Given the description of an element on the screen output the (x, y) to click on. 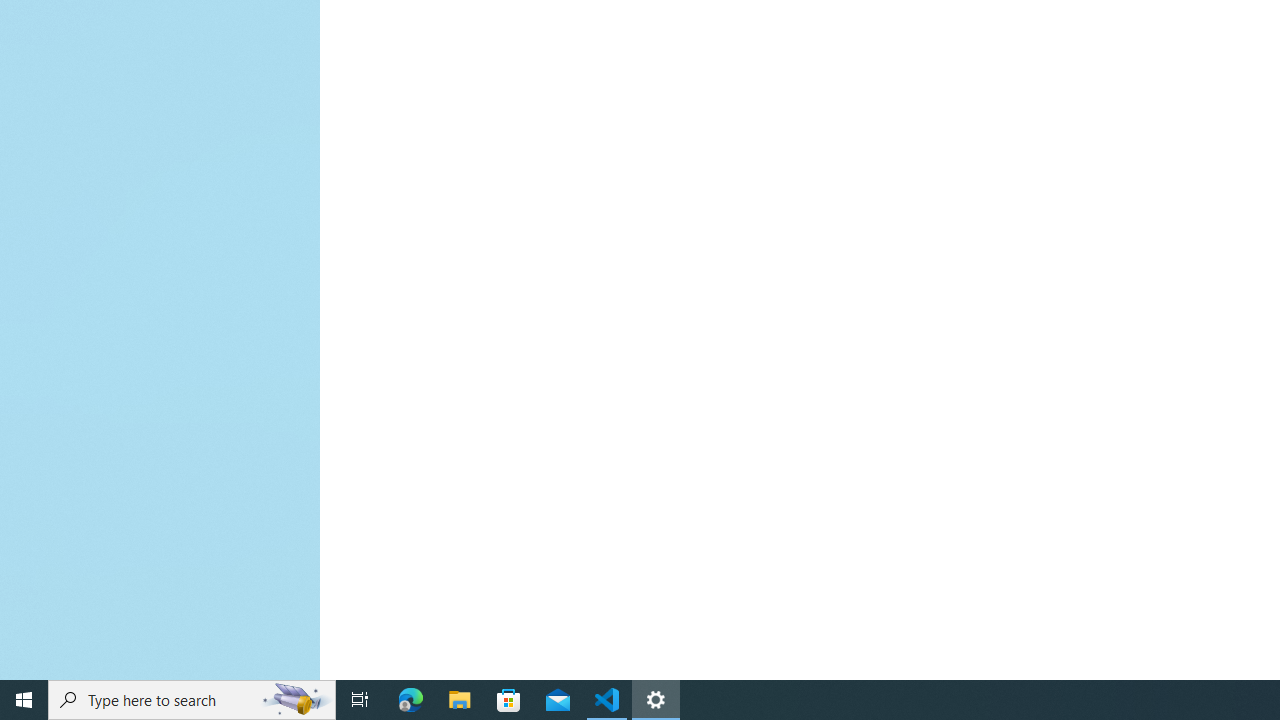
Microsoft Store (509, 699)
Visual Studio Code - 1 running window (607, 699)
Search highlights icon opens search home window (295, 699)
Type here to search (191, 699)
Task View (359, 699)
Start (24, 699)
File Explorer (460, 699)
Settings - 1 running window (656, 699)
Microsoft Edge (411, 699)
